Given the description of an element on the screen output the (x, y) to click on. 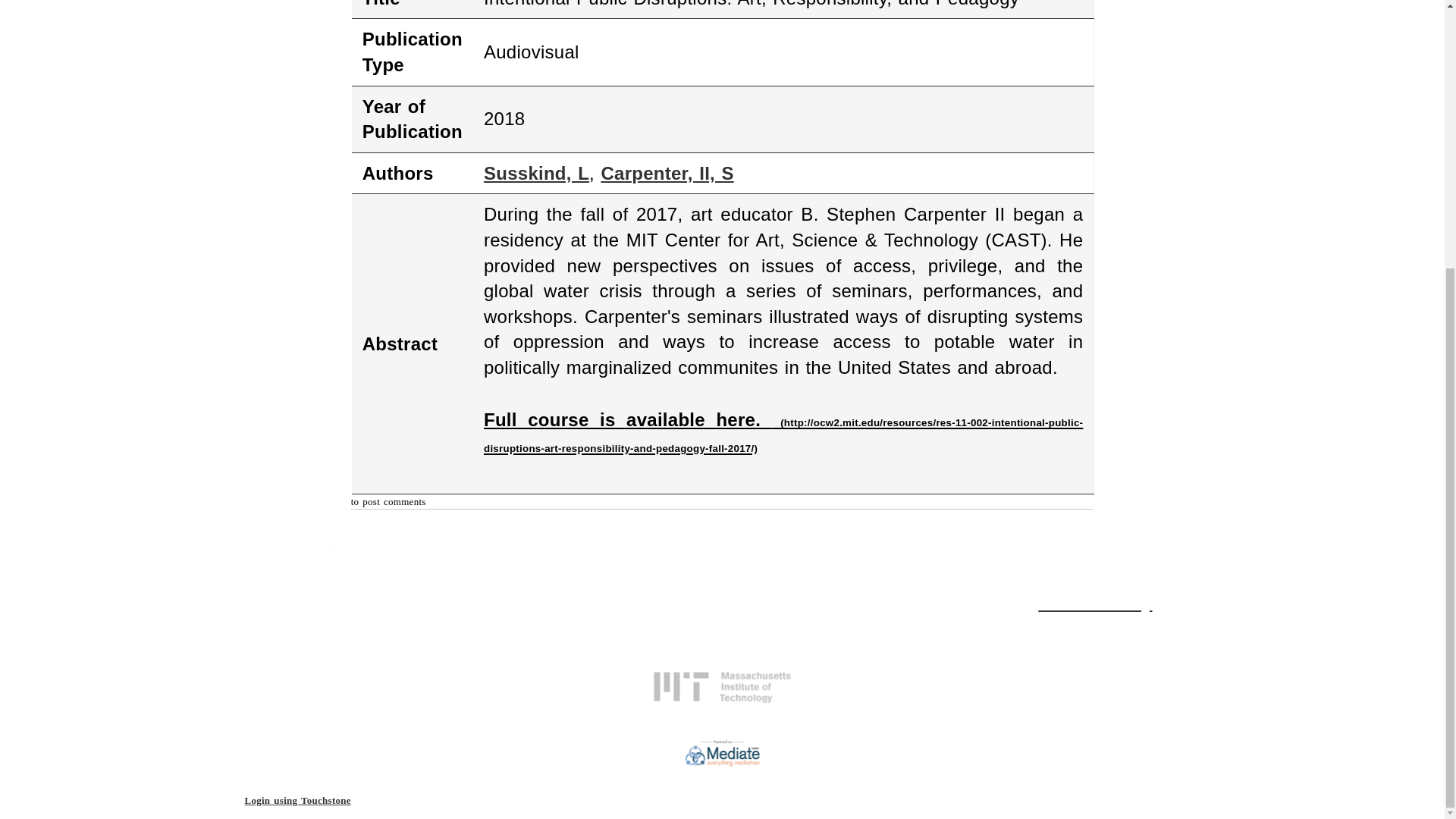
Login using Touchstone (297, 799)
Accessibility (1094, 602)
Carpenter, II, S (666, 172)
Susskind, L (536, 172)
Full course is available here.  (783, 432)
